Given the description of an element on the screen output the (x, y) to click on. 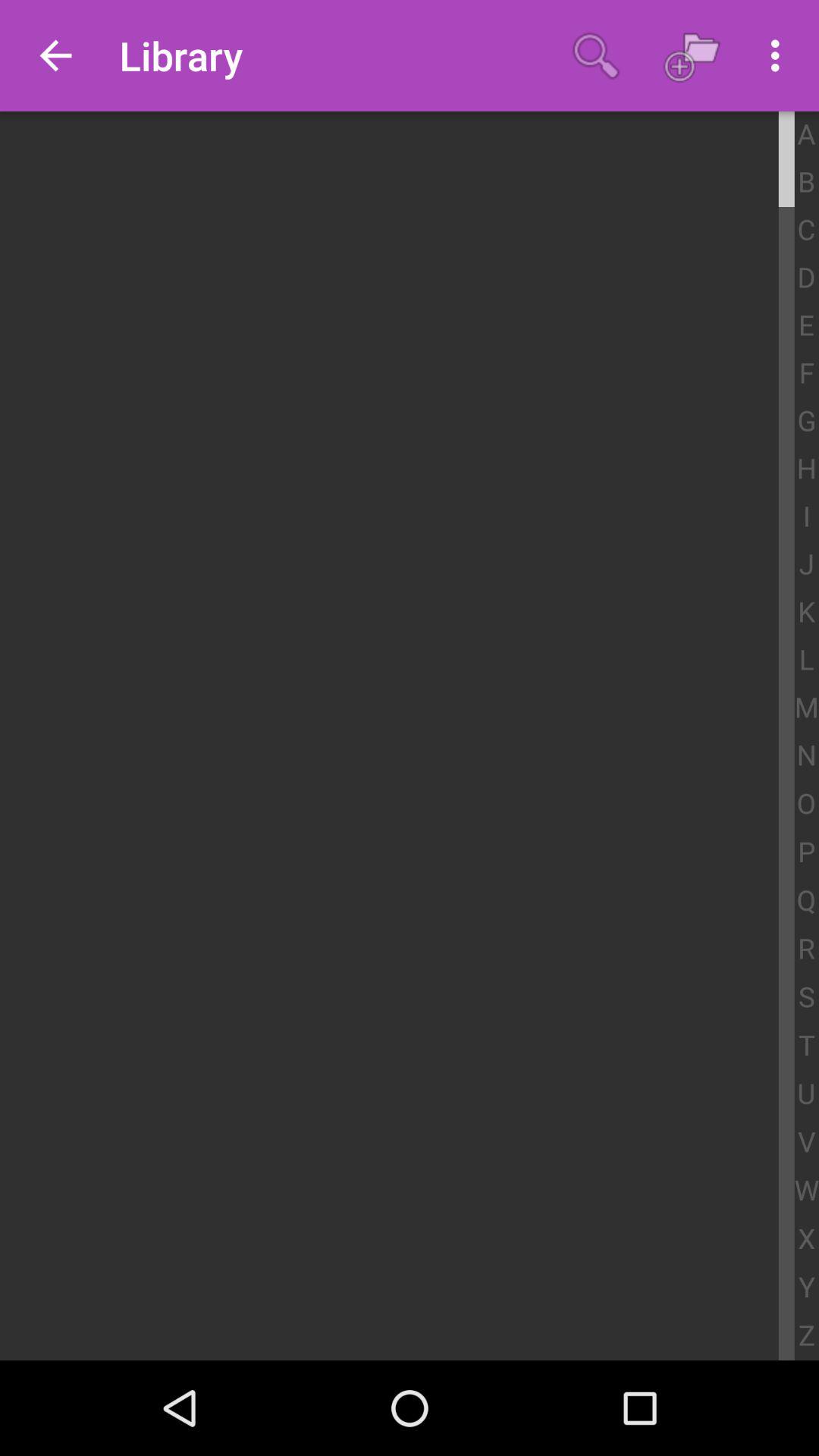
swipe to l icon (806, 660)
